Given the description of an element on the screen output the (x, y) to click on. 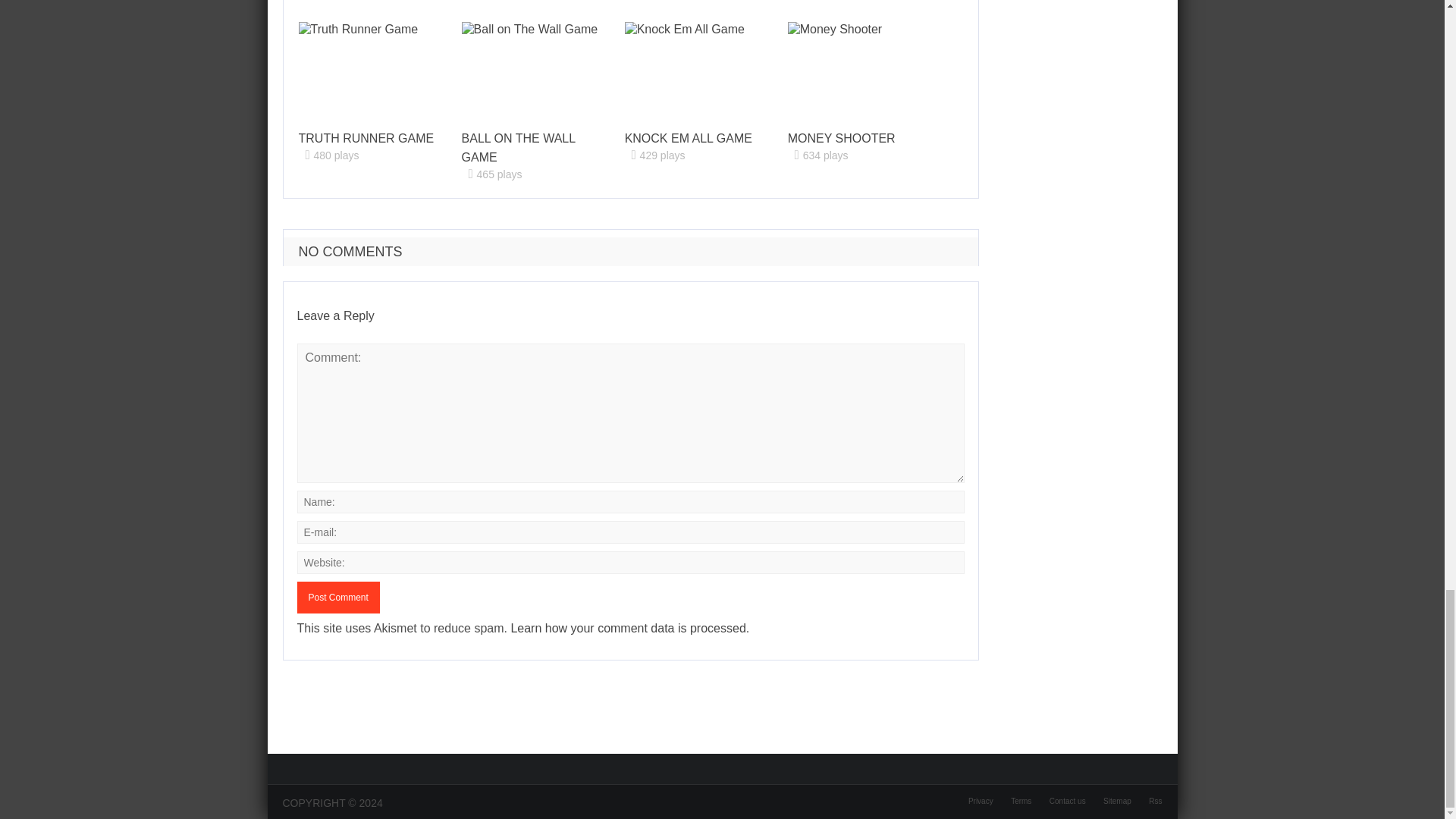
Truth Runner Game (365, 137)
TRUTH RUNNER GAME (365, 137)
Learn how your comment data is processed (628, 627)
Knock Em All Game (692, 71)
Knock Em All Game (688, 137)
Ball on The Wall Game (518, 147)
Money Shooter (855, 71)
Post Comment (338, 597)
MONEY SHOOTER (841, 137)
Post Comment (338, 597)
